Given the description of an element on the screen output the (x, y) to click on. 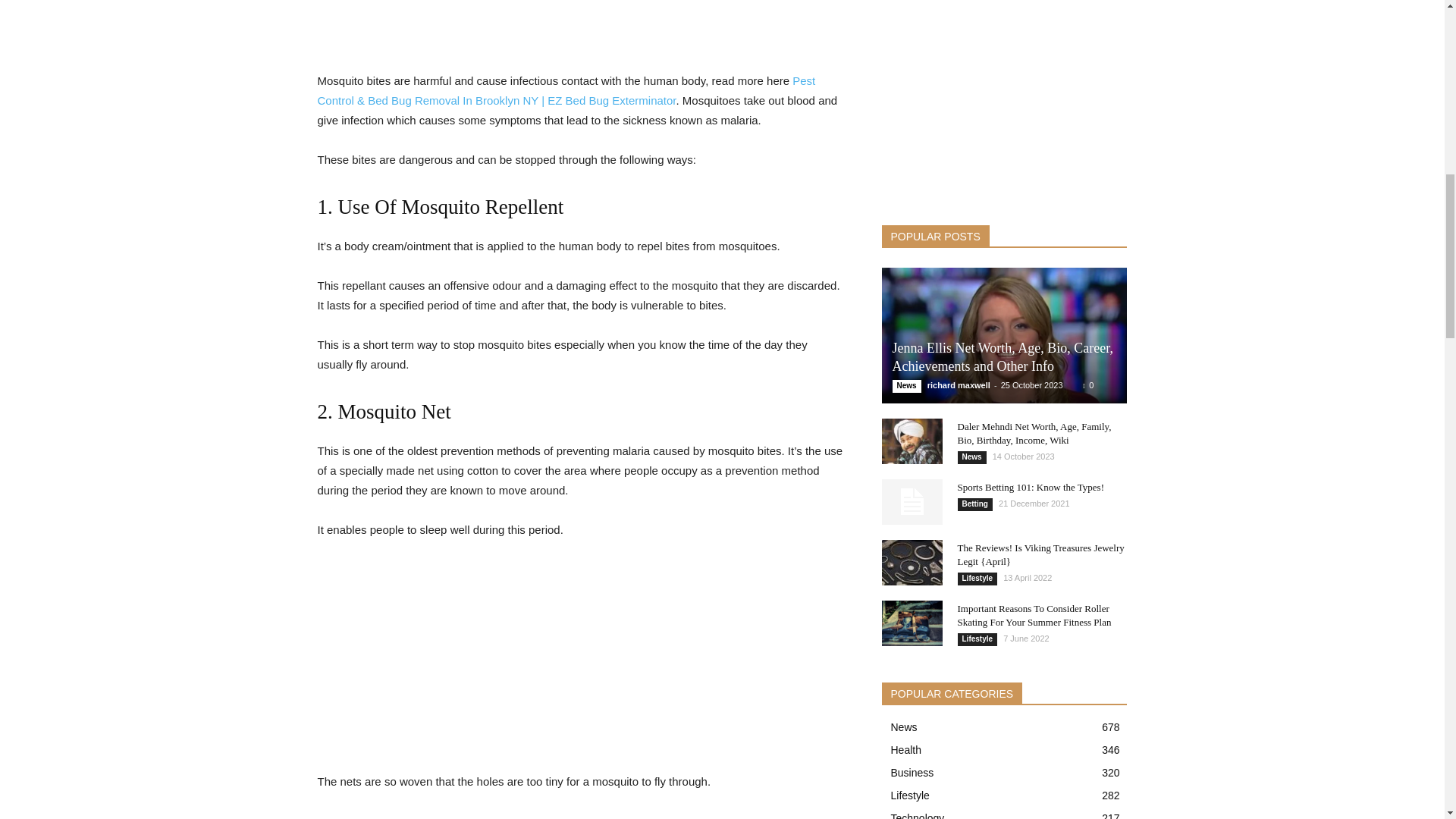
Advertisement (580, 18)
Advertisement (580, 665)
